Given the description of an element on the screen output the (x, y) to click on. 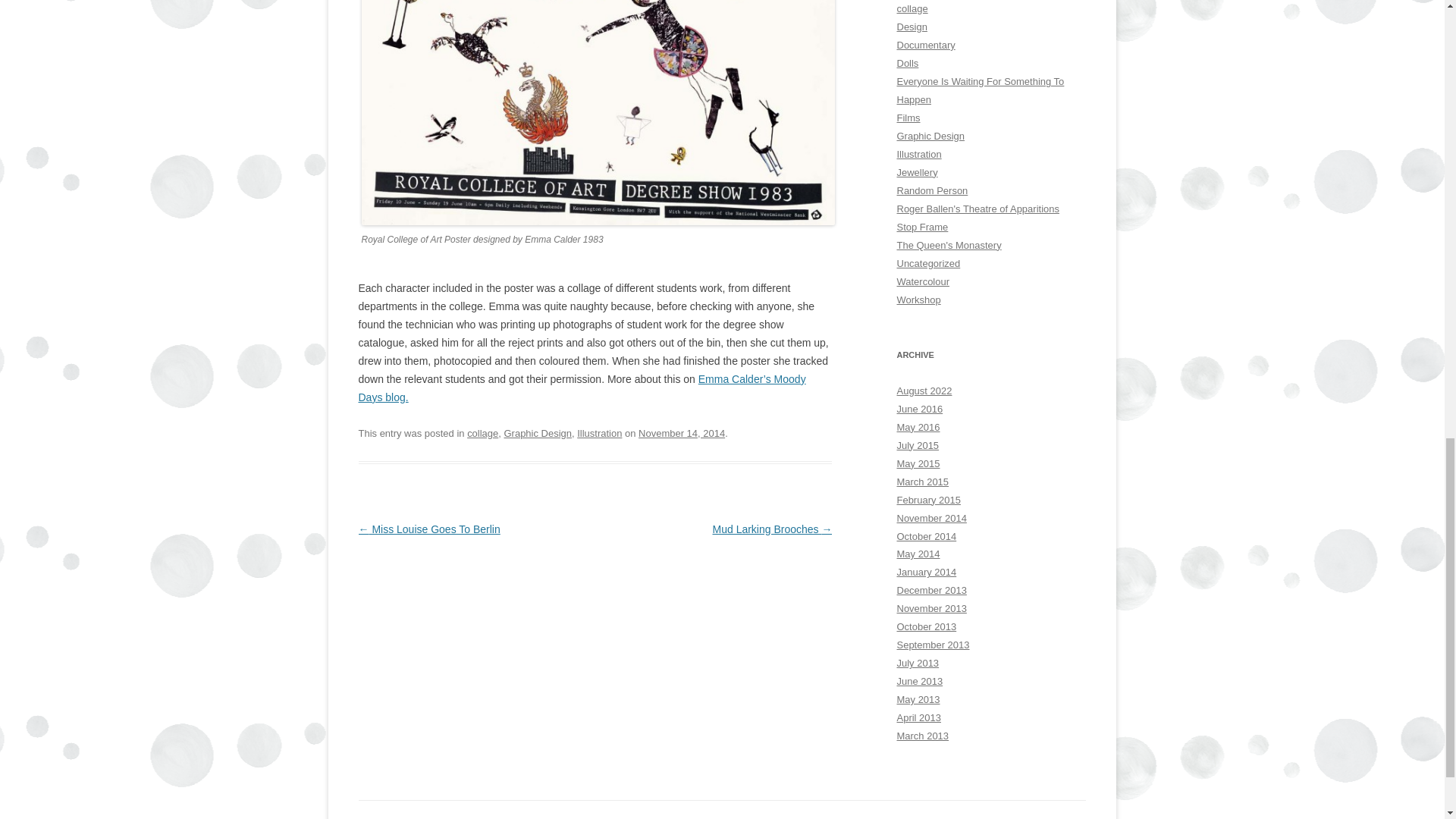
2:12 pm (682, 432)
Illustration (598, 432)
November 14, 2014 (682, 432)
Emma Calder's Moody Days (581, 388)
Graphic Design (537, 432)
collage (482, 432)
